Given the description of an element on the screen output the (x, y) to click on. 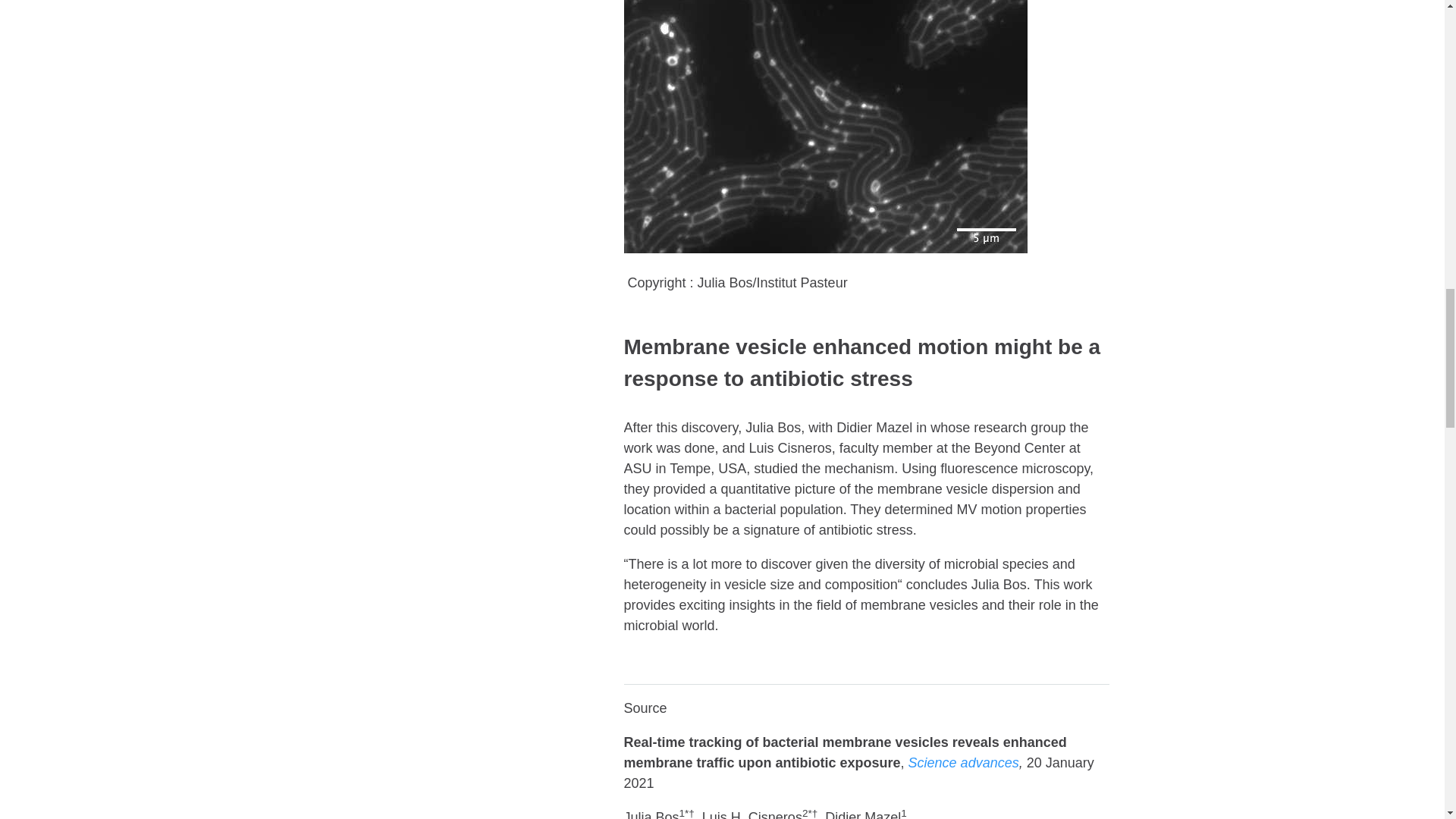
membrane vesicles  (824, 126)
